Given the description of an element on the screen output the (x, y) to click on. 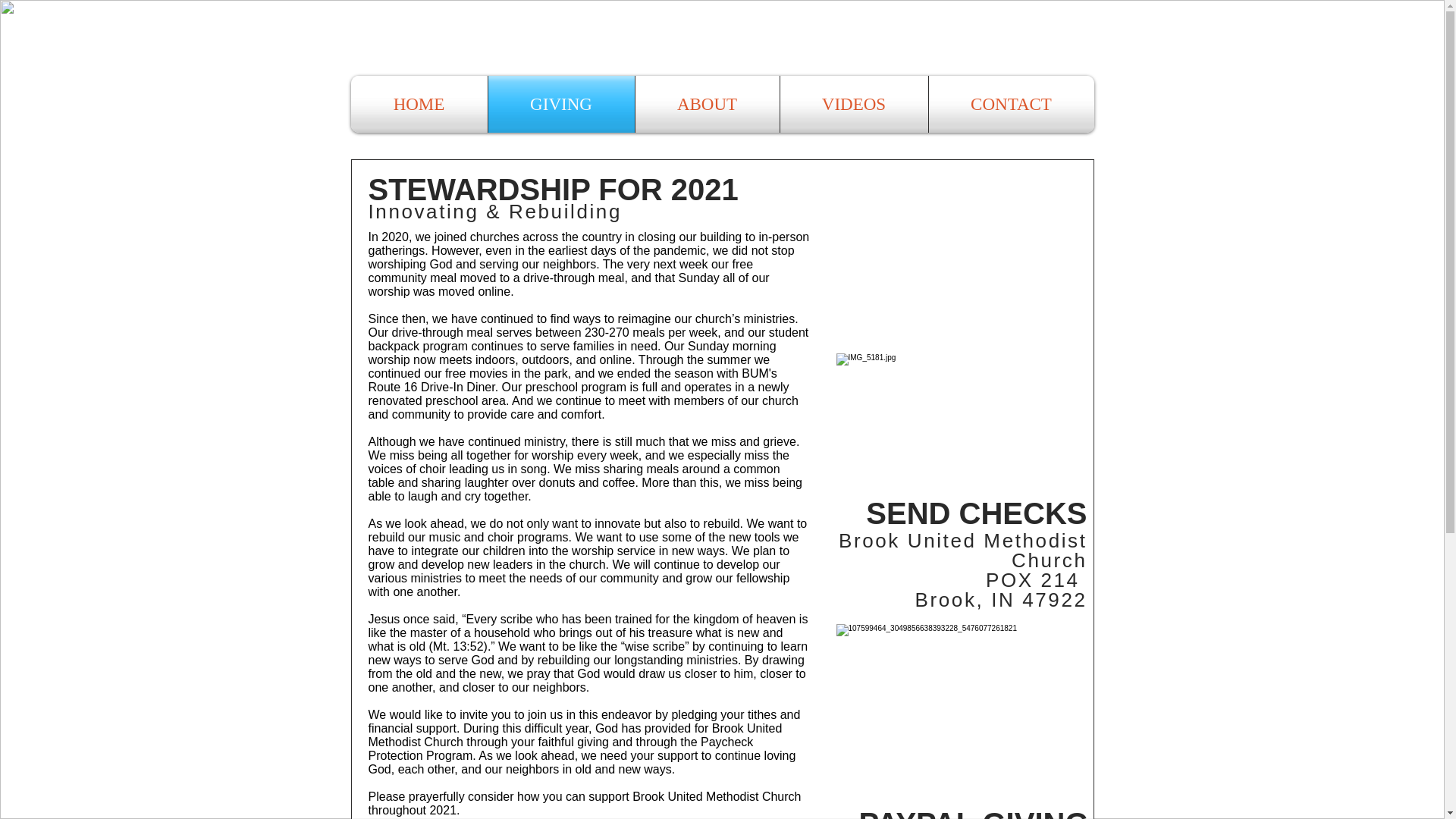
VIDEOS (852, 104)
CONTACT (1010, 104)
GIVING (560, 104)
HOME (418, 104)
ABOUT (706, 104)
